Given the description of an element on the screen output the (x, y) to click on. 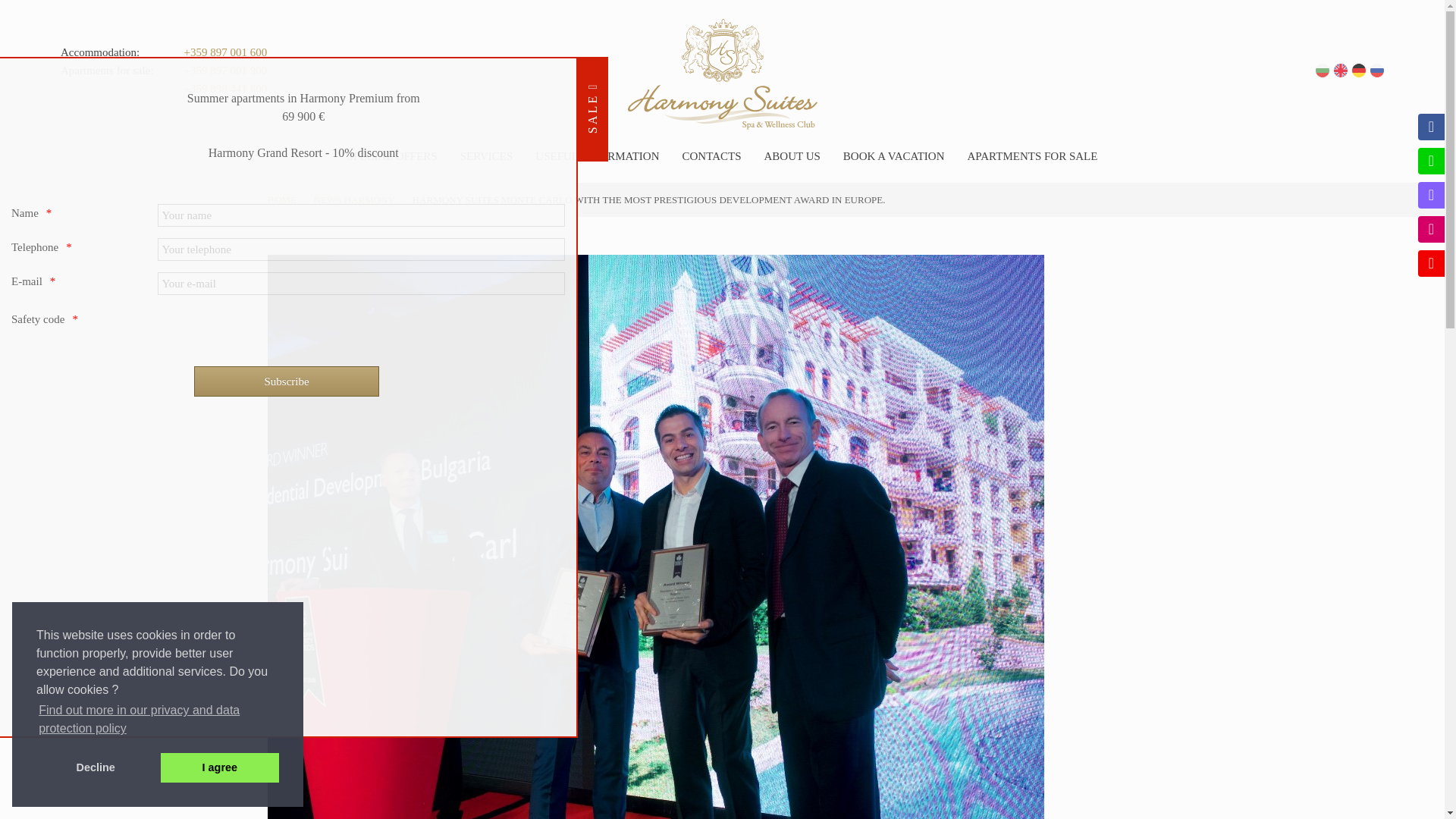
APARTMENTS FOR SALE (1031, 155)
USEFUL INFORMATION (597, 155)
I agree (219, 767)
Decline (95, 767)
SPECIAL OFFERS (392, 155)
CONTACTS (711, 155)
English (1340, 69)
BOOK A VACATION (893, 155)
Find out more in our privacy and data protection policy (157, 719)
SERVICES (486, 155)
ABOUT US (792, 155)
Subscribe (285, 381)
Enter code (37, 318)
